Given the description of an element on the screen output the (x, y) to click on. 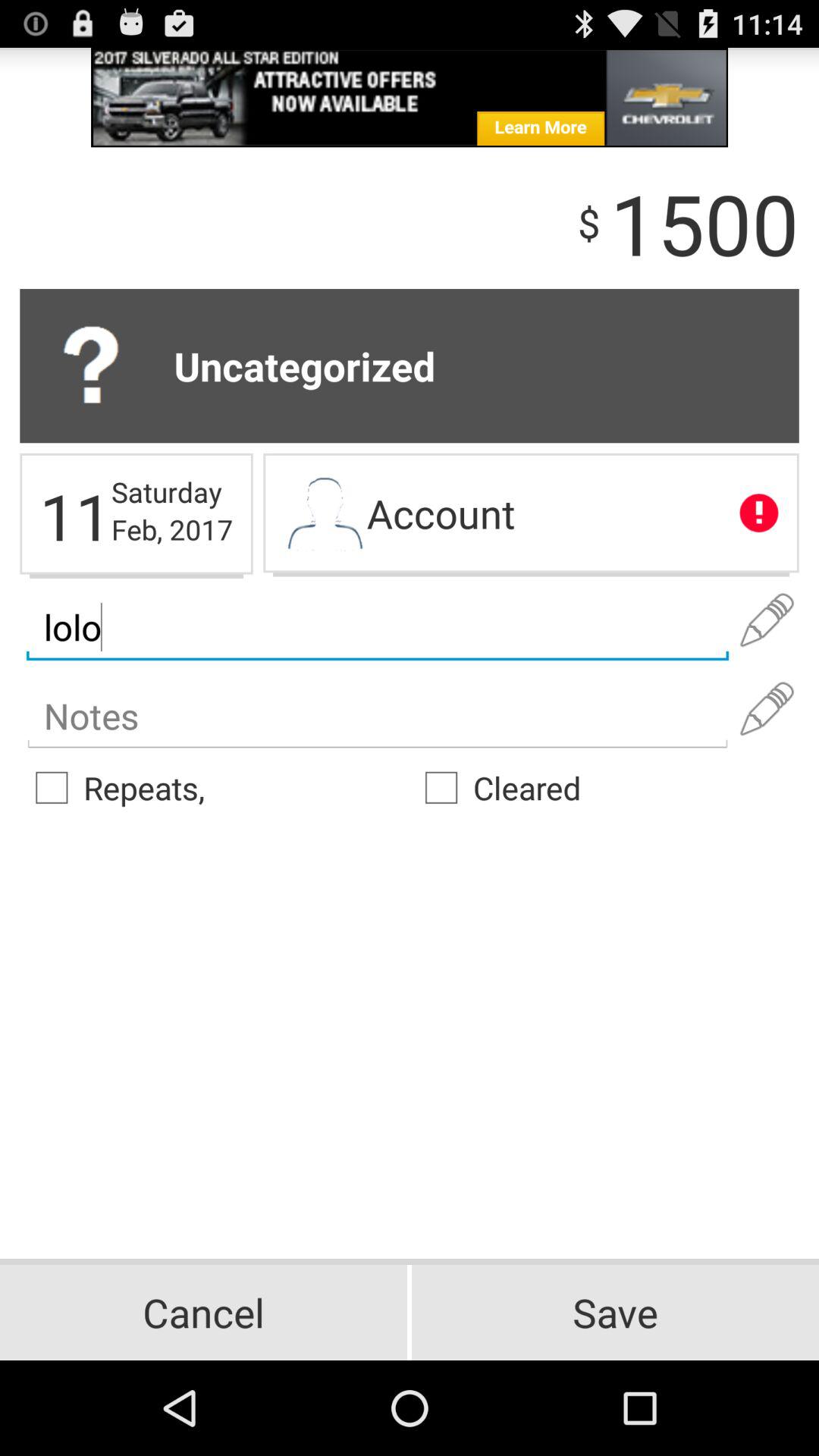
profile picture (324, 514)
